Given the description of an element on the screen output the (x, y) to click on. 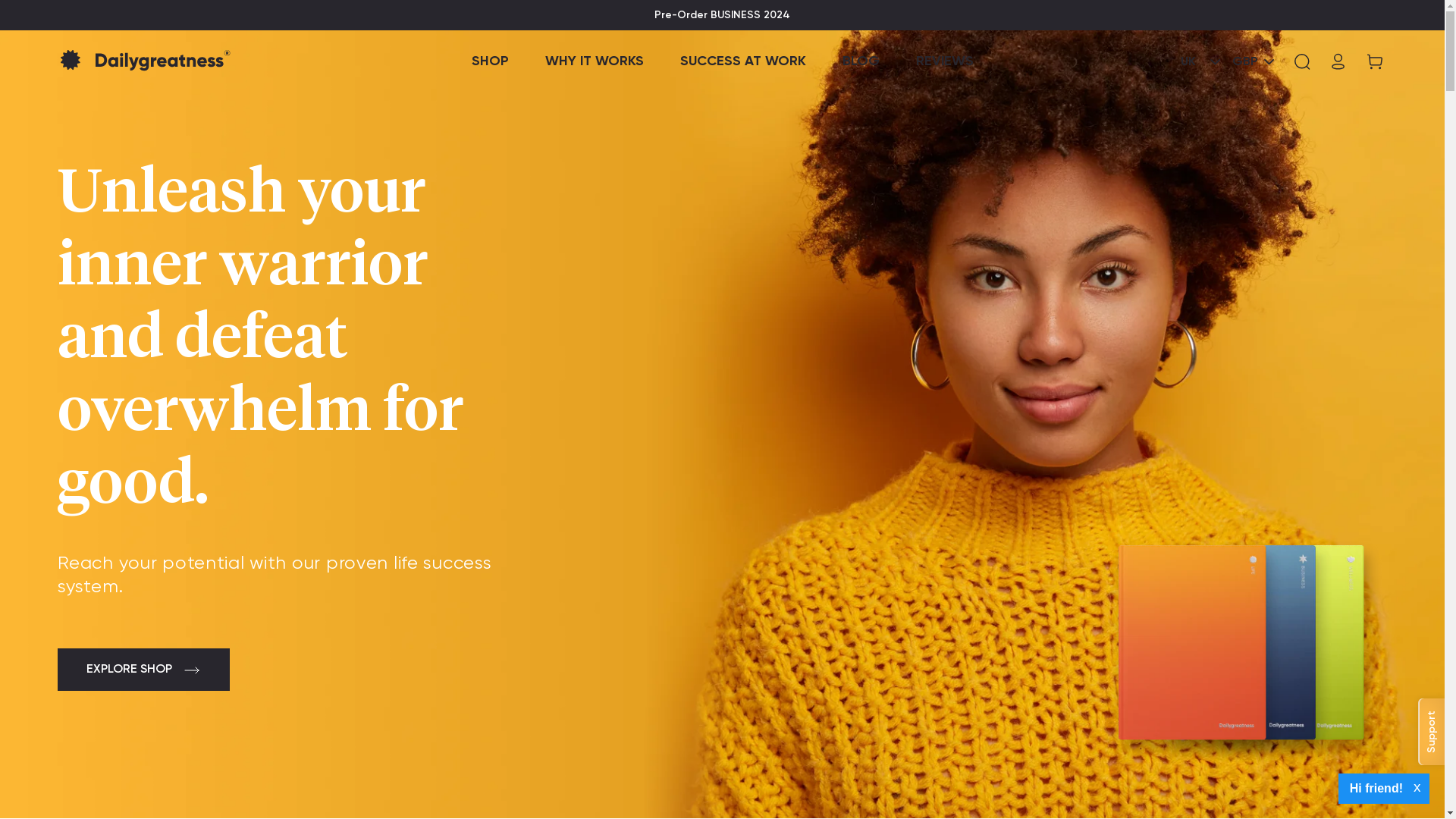
REVIEWS Element type: text (944, 61)
Skip to content. Element type: text (0, 0)
Search for products Element type: hover (1301, 60)
EXPLORE SHOP Element type: text (143, 669)
WHY IT WORKS Element type: text (593, 61)
SUCCESS AT WORK Element type: text (742, 61)
Login / My Account Element type: hover (1338, 60)
Your Cart Element type: hover (1369, 60)
SHOP Element type: text (490, 61)
BLOG Element type: text (860, 61)
Dailygreatness | Home Element type: hover (169, 61)
BLACK FRIDAY SALE | 20% OFF CODE: RISE2024 Element type: text (721, 15)
